Given the description of an element on the screen output the (x, y) to click on. 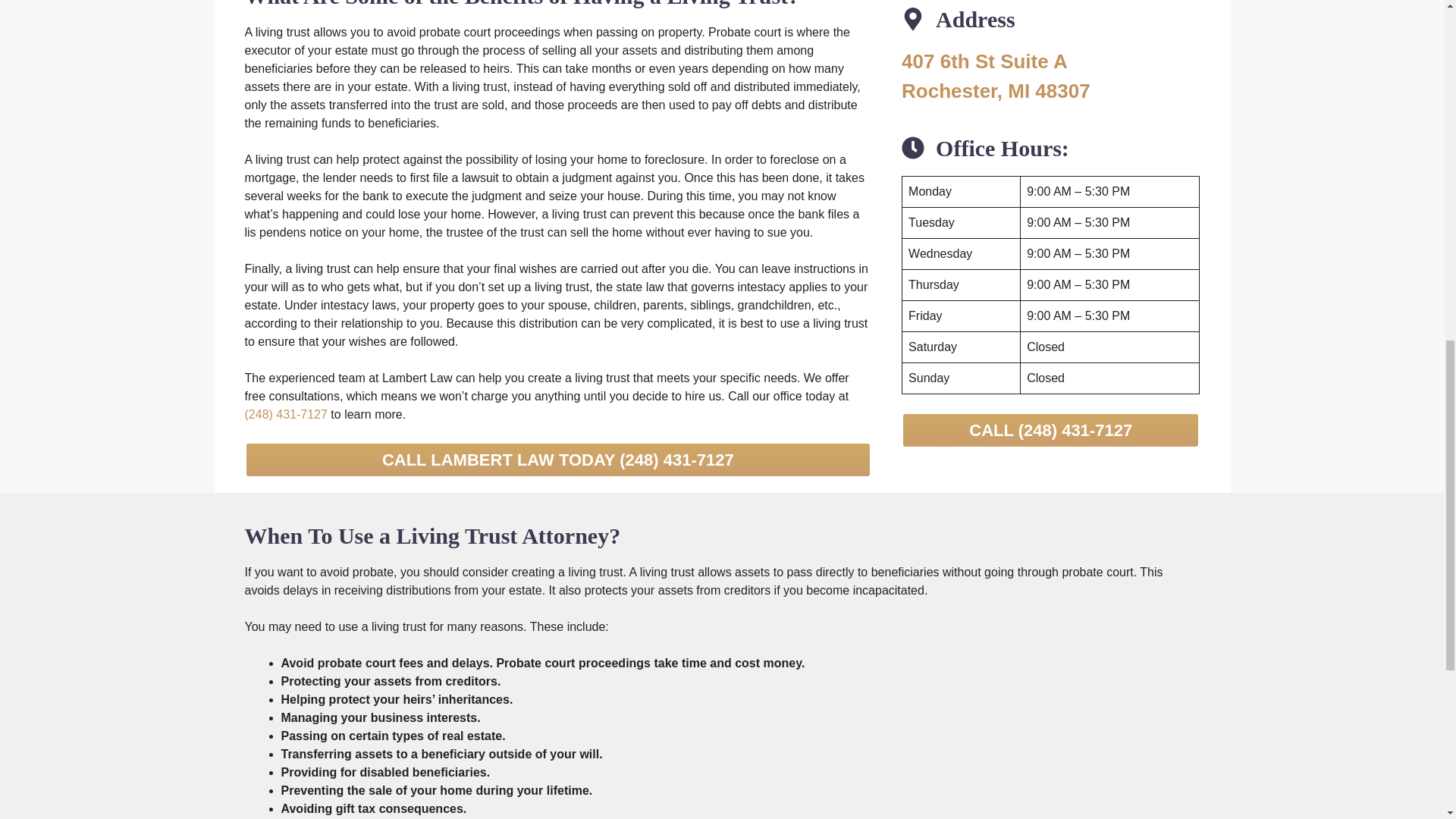
407 6th St Suite A (984, 60)
Rochester, MI 48307 (995, 90)
